Given the description of an element on the screen output the (x, y) to click on. 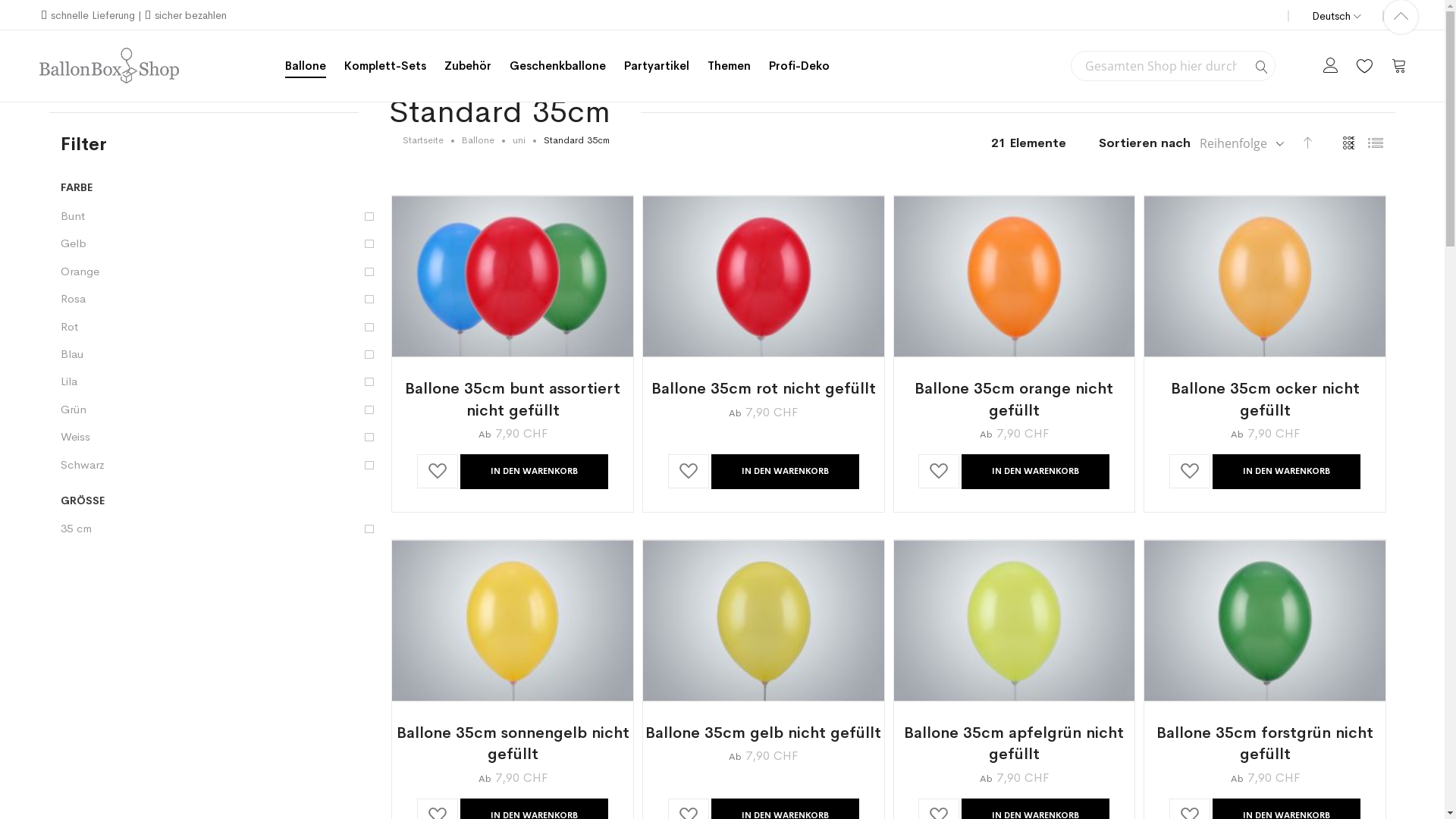
IN DEN WARENKORB Element type: text (534, 471)
Rot Element type: text (219, 326)
Bunt Element type: text (219, 215)
Gelb Element type: text (219, 243)
Absteigend sortieren Element type: text (1308, 141)
Komplett-Sets Element type: text (385, 65)
IN DEN WARENKORB Element type: text (1035, 471)
Partyartikel Element type: text (656, 65)
Themen Element type: text (728, 65)
Ballone Element type: text (477, 140)
Weiss Element type: text (219, 436)
Rosa Element type: text (219, 298)
Orange Element type: text (219, 271)
Profi-Deko Element type: text (798, 65)
Liste Element type: text (1374, 143)
Mein Warenkorb Element type: text (1398, 64)
Blau Element type: text (219, 353)
uni Element type: text (518, 140)
Lila Element type: text (219, 381)
Ballone Element type: text (305, 65)
Schwarz Element type: text (219, 464)
IN DEN WARENKORB Element type: text (785, 471)
Ballon Box Element type: hover (109, 65)
Startseite Element type: text (422, 140)
Geschenkballone Element type: text (557, 65)
Suche Element type: text (1261, 66)
IN DEN WARENKORB Element type: text (1286, 471)
35 cm Element type: text (219, 528)
